Given the description of an element on the screen output the (x, y) to click on. 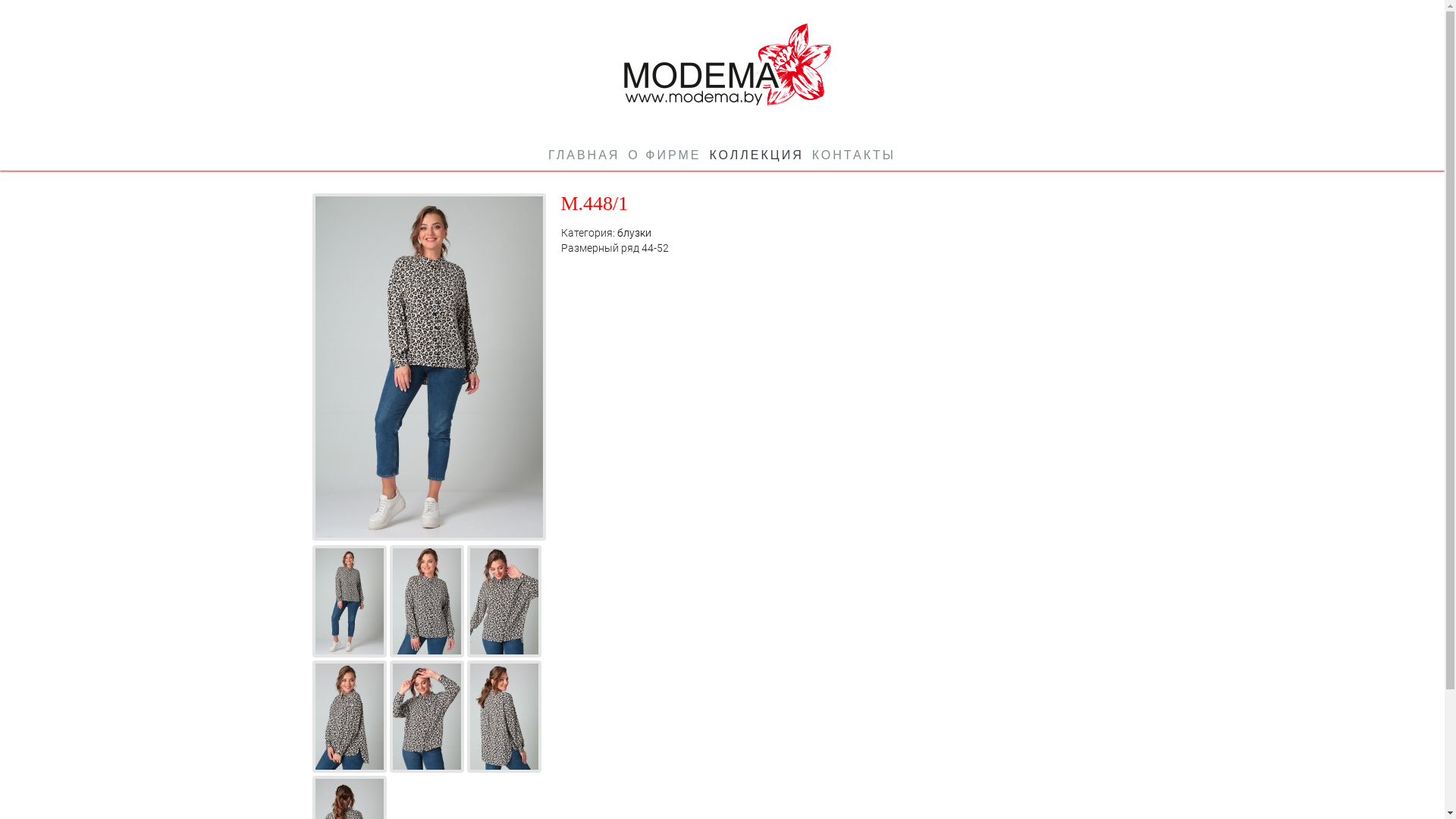
modema_448 (1) Element type: hover (429, 366)
modema_448 (6) Element type: hover (426, 715)
modema_448 (1) Element type: hover (349, 600)
modema_448 (3) Element type: hover (504, 600)
modema_448 (5) Element type: hover (349, 715)
modema_448 (2) Element type: hover (426, 600)
modema_448 (7) Element type: hover (504, 715)
